Given the description of an element on the screen output the (x, y) to click on. 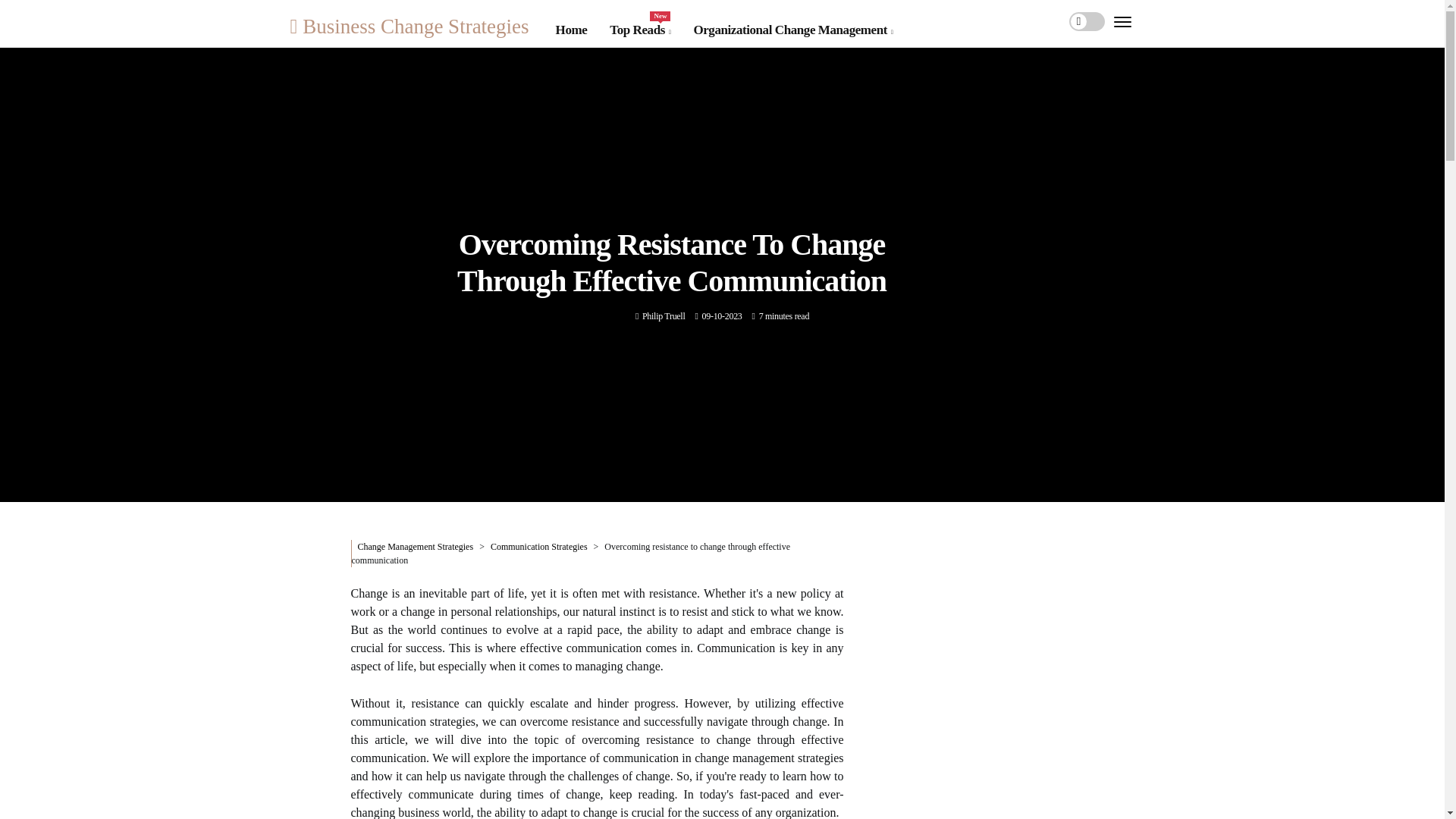
Posts by Philip Truell (663, 316)
Business Change Strategies (408, 26)
Organizational Change Management (792, 30)
